Given the description of an element on the screen output the (x, y) to click on. 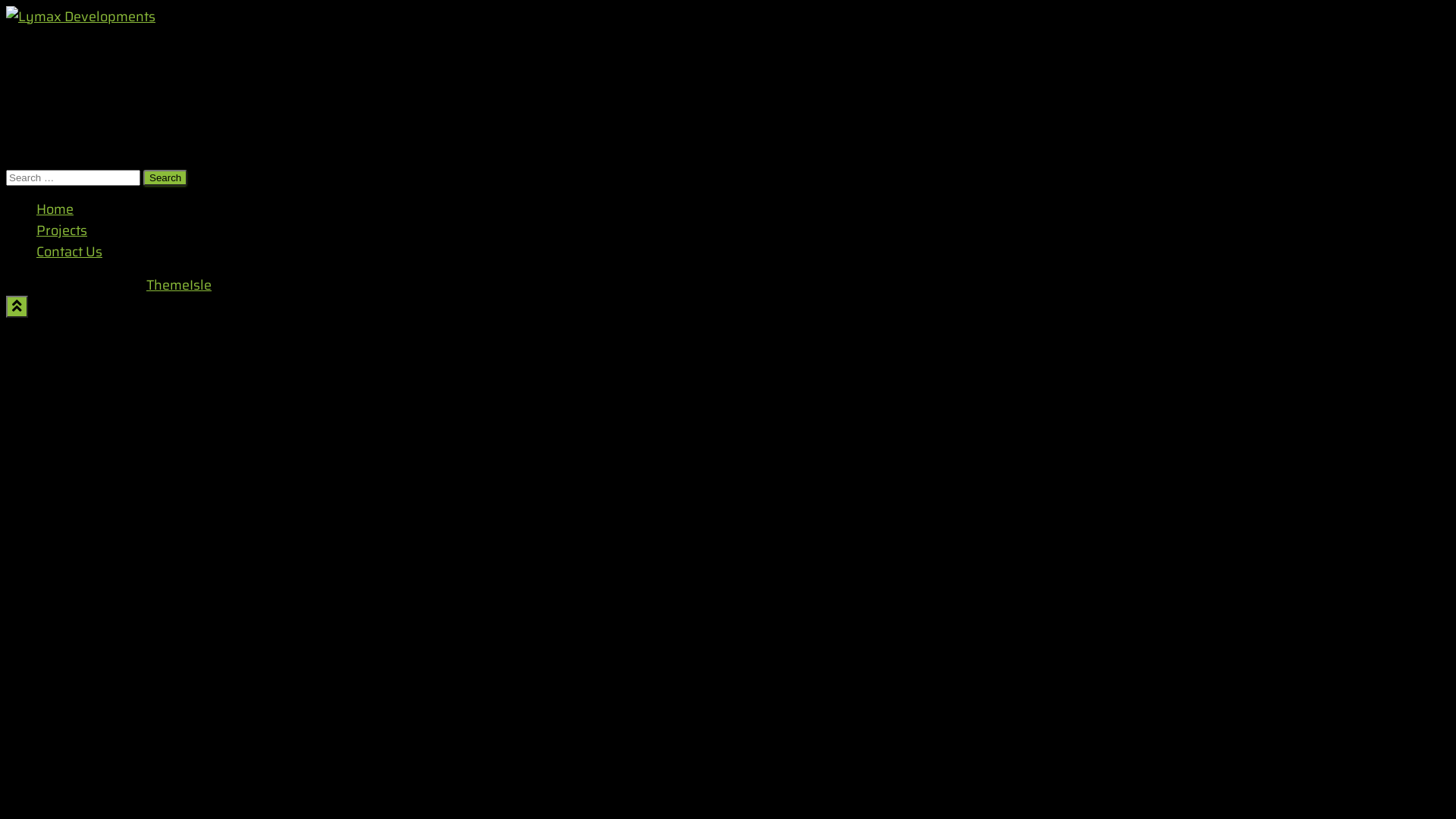
Lymax Developments Element type: hover (80, 16)
ThemeIsle Element type: text (178, 284)
Search Element type: text (165, 177)
Home Element type: text (54, 208)
Projects Element type: text (61, 230)
Contact Us Element type: text (69, 251)
